Given the description of an element on the screen output the (x, y) to click on. 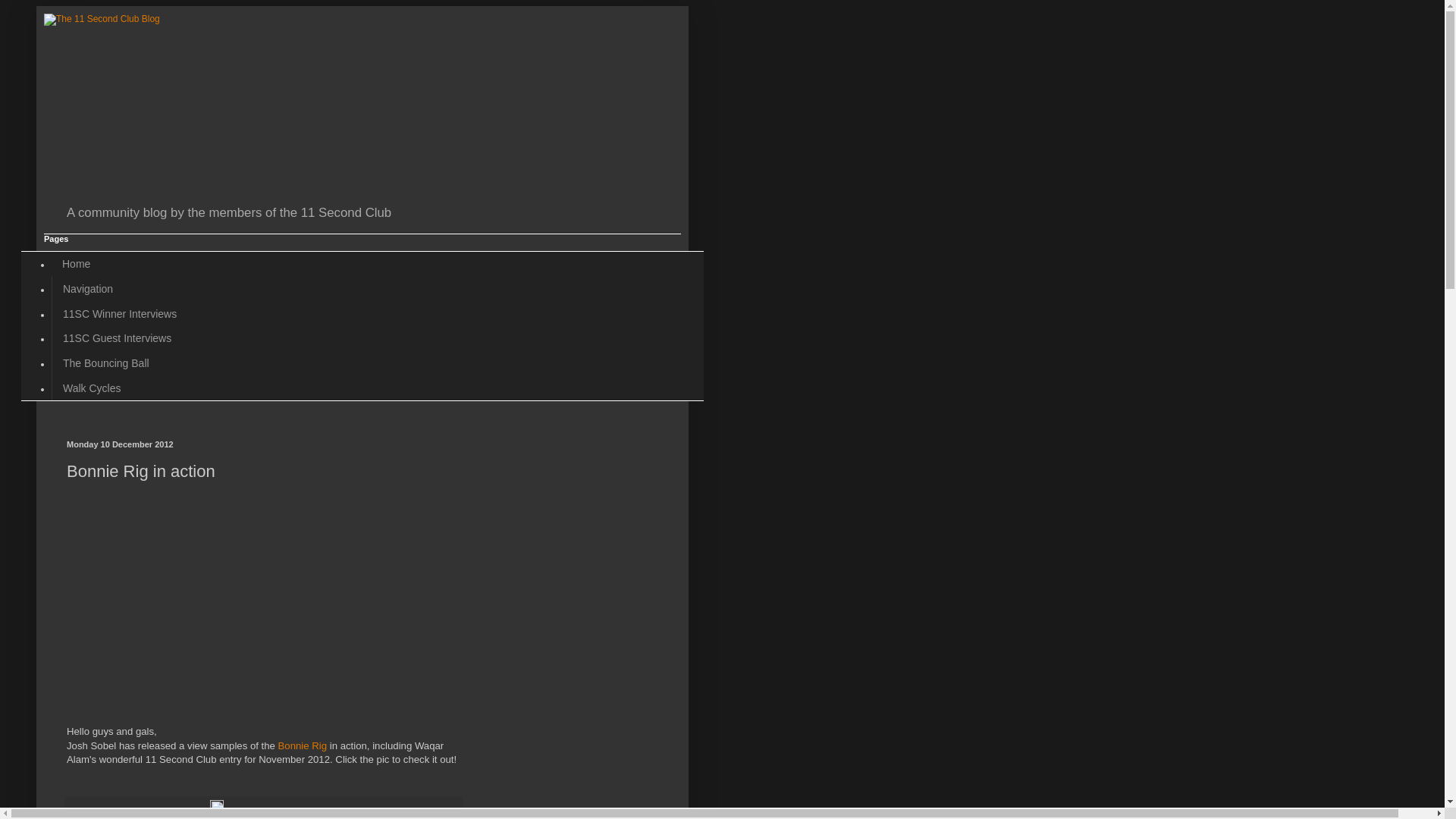
11SC Winner Interviews Element type: text (119, 313)
Edit Post Element type: hover (216, 810)
11SC Guest Interviews Element type: text (116, 338)
Bonnie Rig Element type: text (302, 745)
Walk Cycles Element type: text (91, 388)
Navigation Element type: text (87, 288)
Home Element type: text (75, 263)
The Bouncing Ball Element type: text (105, 363)
steven hawthorne Element type: text (144, 810)
13:32 Element type: text (197, 810)
